Given the description of an element on the screen output the (x, y) to click on. 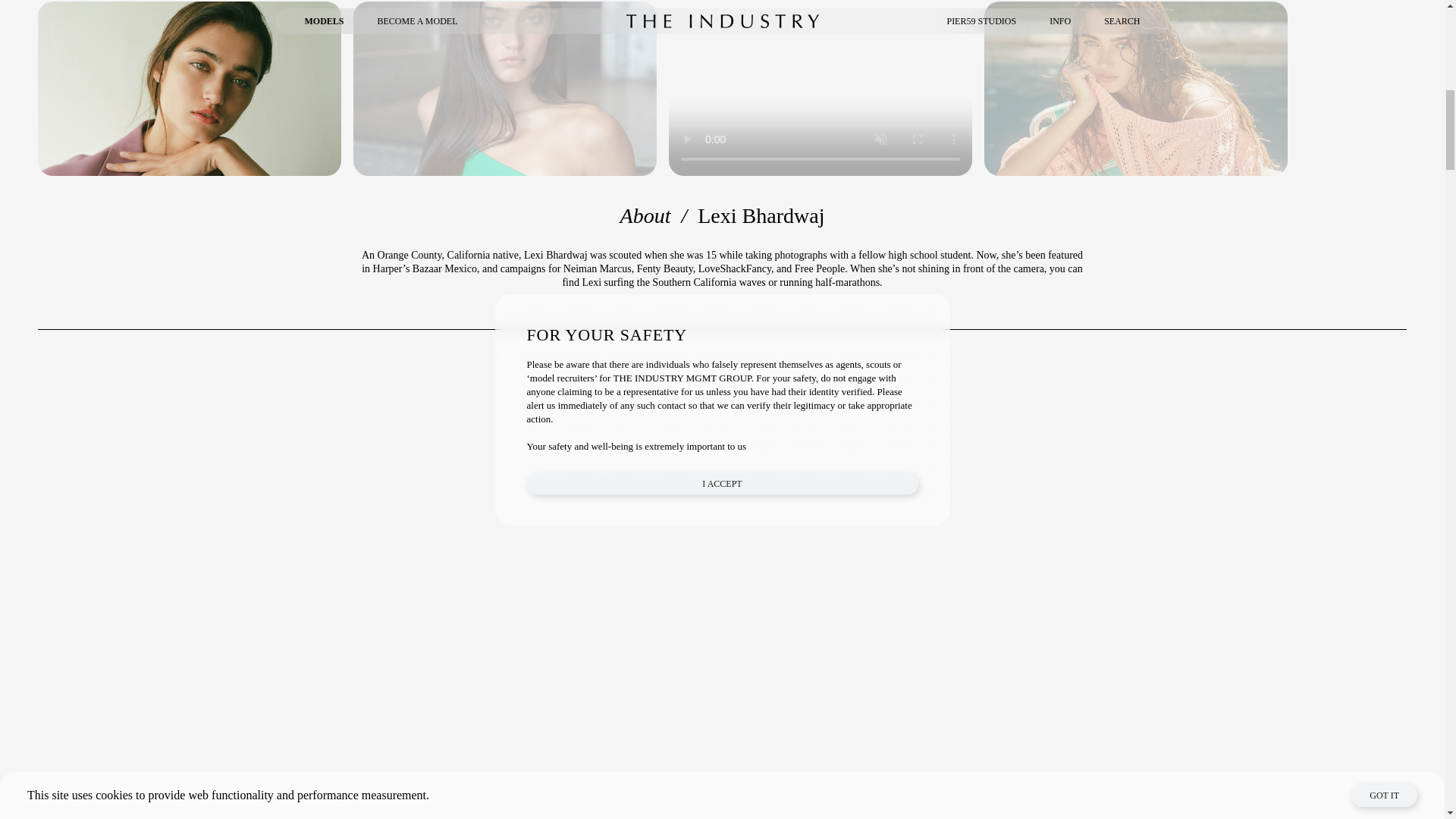
Social (1135, 88)
Videos (820, 88)
digitals-LEXI BHARDWAJ (504, 88)
videos-LEXI BHARDWAJ (820, 88)
Digitals (504, 88)
social-LEXI BHARDWAJ (1135, 88)
Portfolio (188, 88)
portfolio-LEXI BHARDWAJ (188, 88)
